Given the description of an element on the screen output the (x, y) to click on. 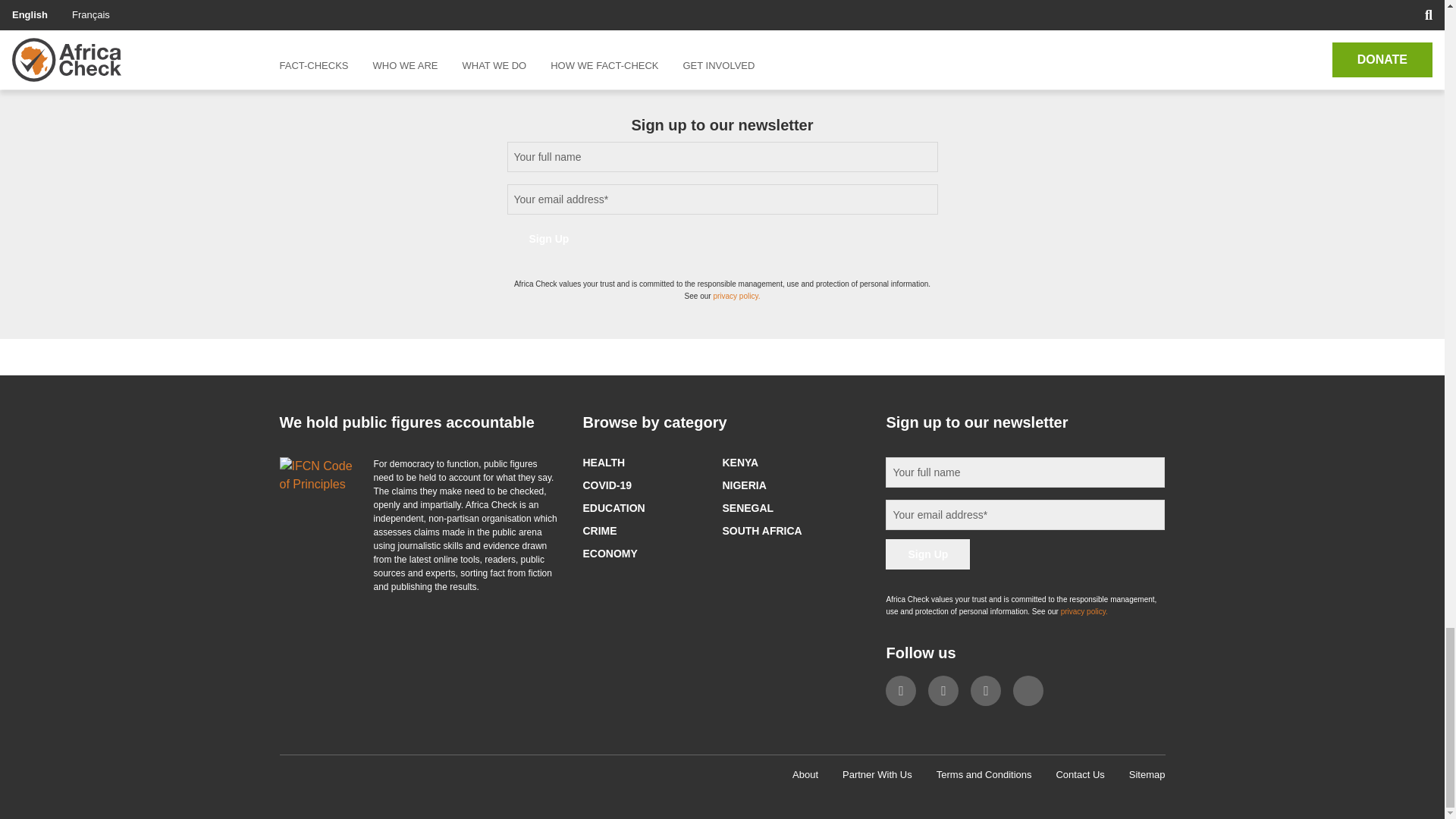
IFCN signatory (317, 475)
Save (319, 2)
Sign Up (927, 553)
Sign Up (548, 238)
